Given the description of an element on the screen output the (x, y) to click on. 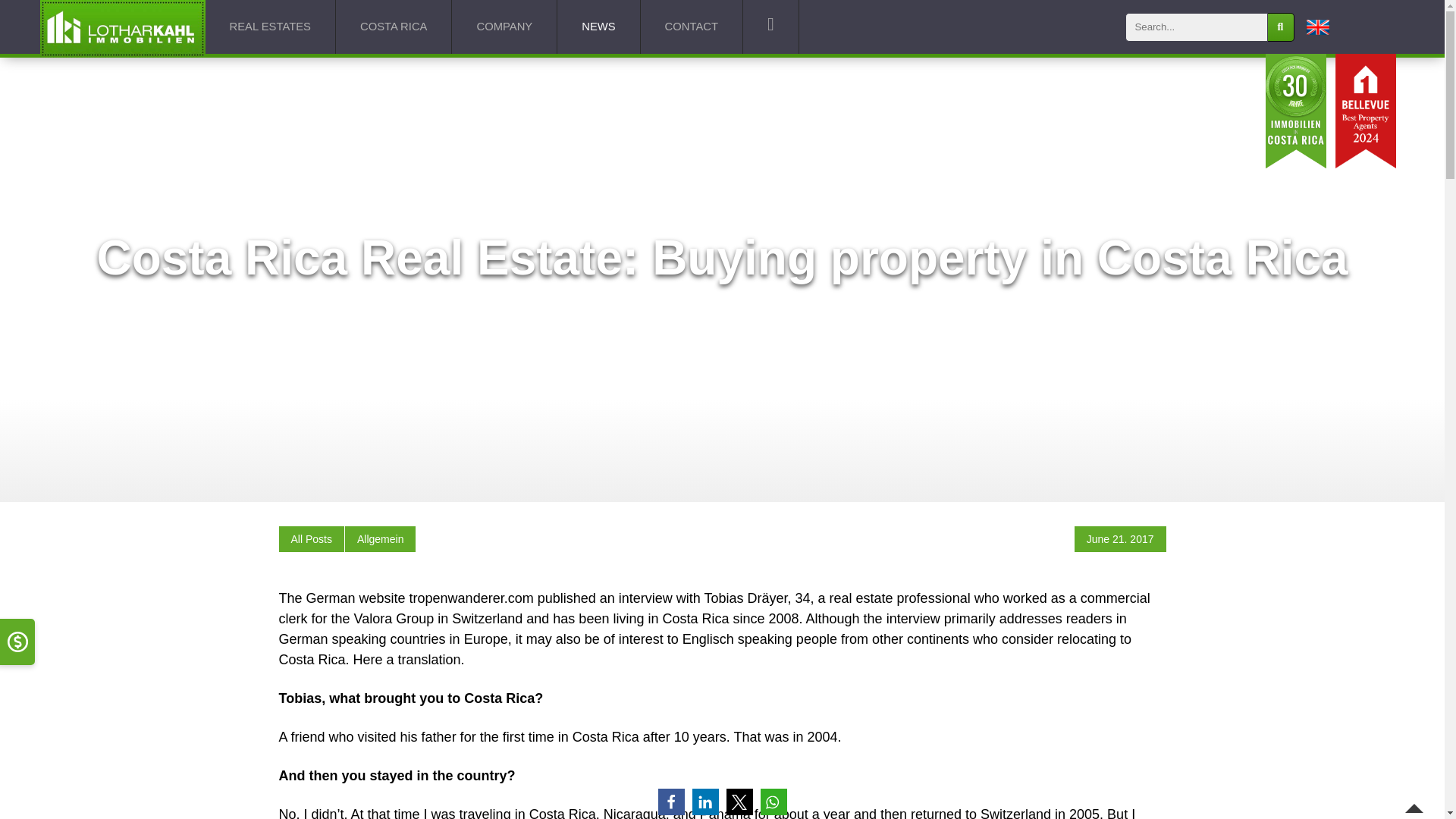
CONTACT (691, 27)
Share on Facebook (671, 801)
Share on X (739, 801)
REAL ESTATES (269, 27)
Allgemein (379, 539)
Share on Whatsapp (773, 801)
NEWS (598, 27)
All Posts (311, 539)
Zur Startseite (122, 27)
Share on LinkedIn (704, 801)
